Given the description of an element on the screen output the (x, y) to click on. 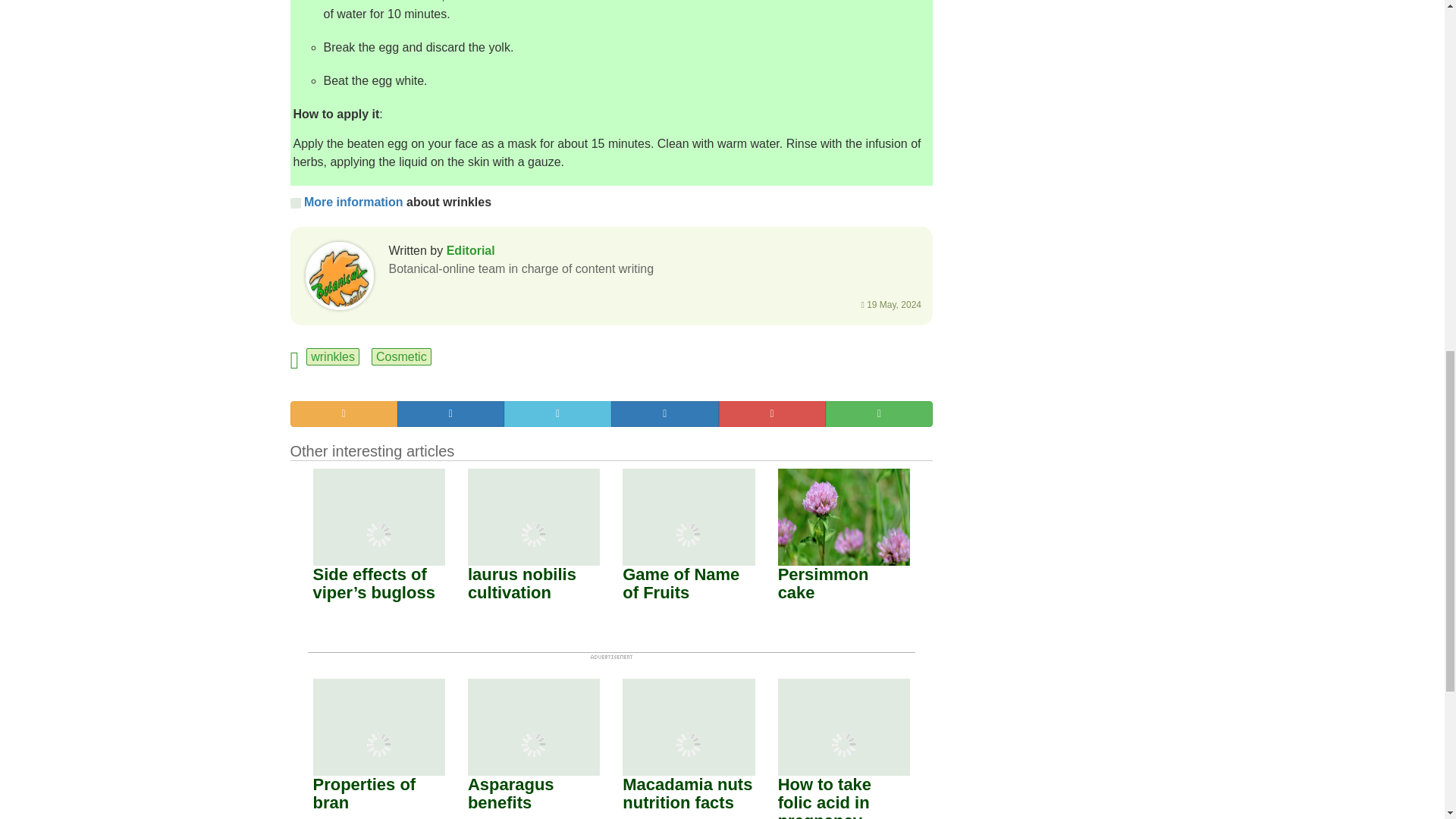
Advertisement (1055, 58)
